Given the description of an element on the screen output the (x, y) to click on. 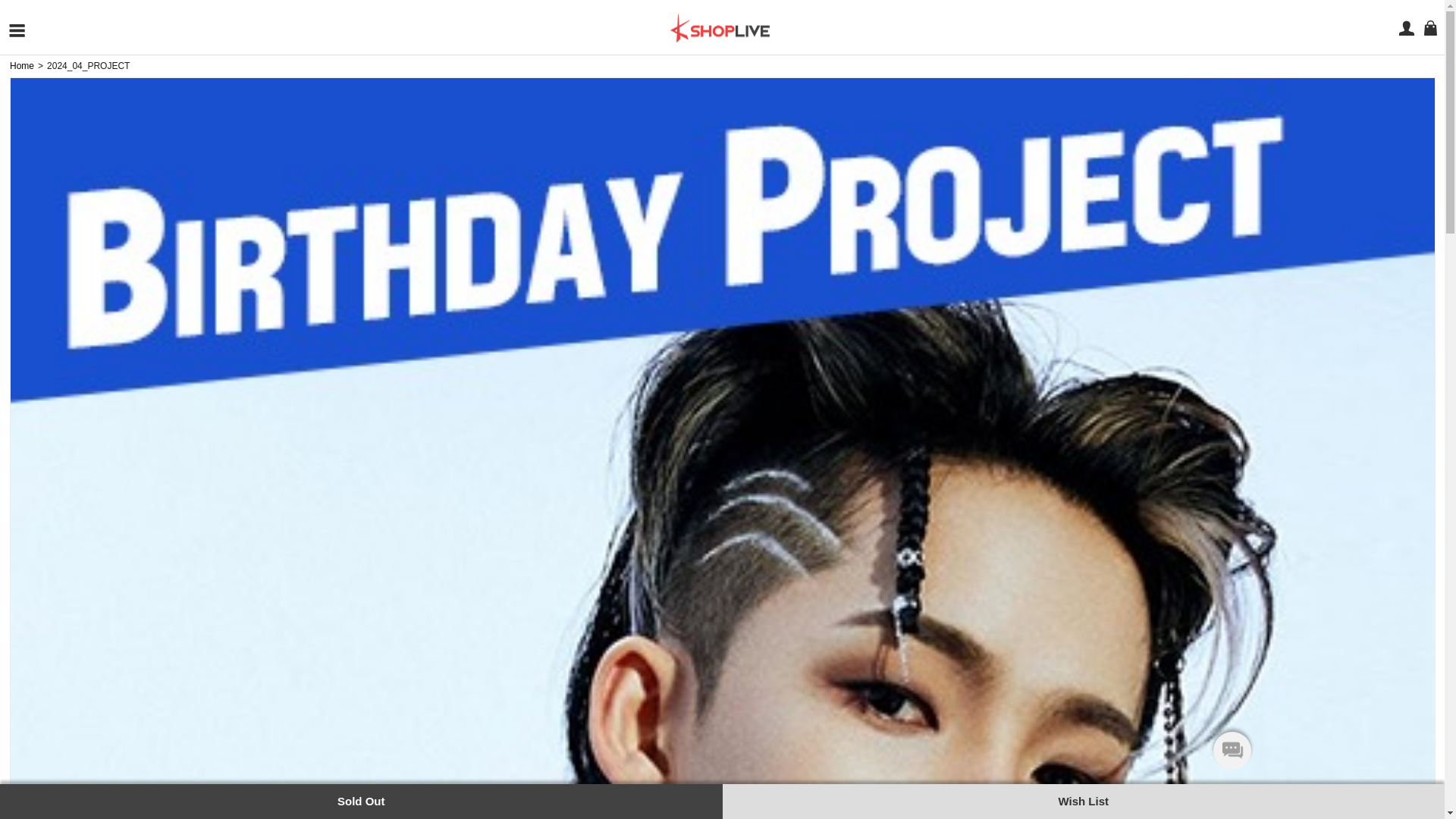
Home (21, 65)
Category (17, 30)
